Given the description of an element on the screen output the (x, y) to click on. 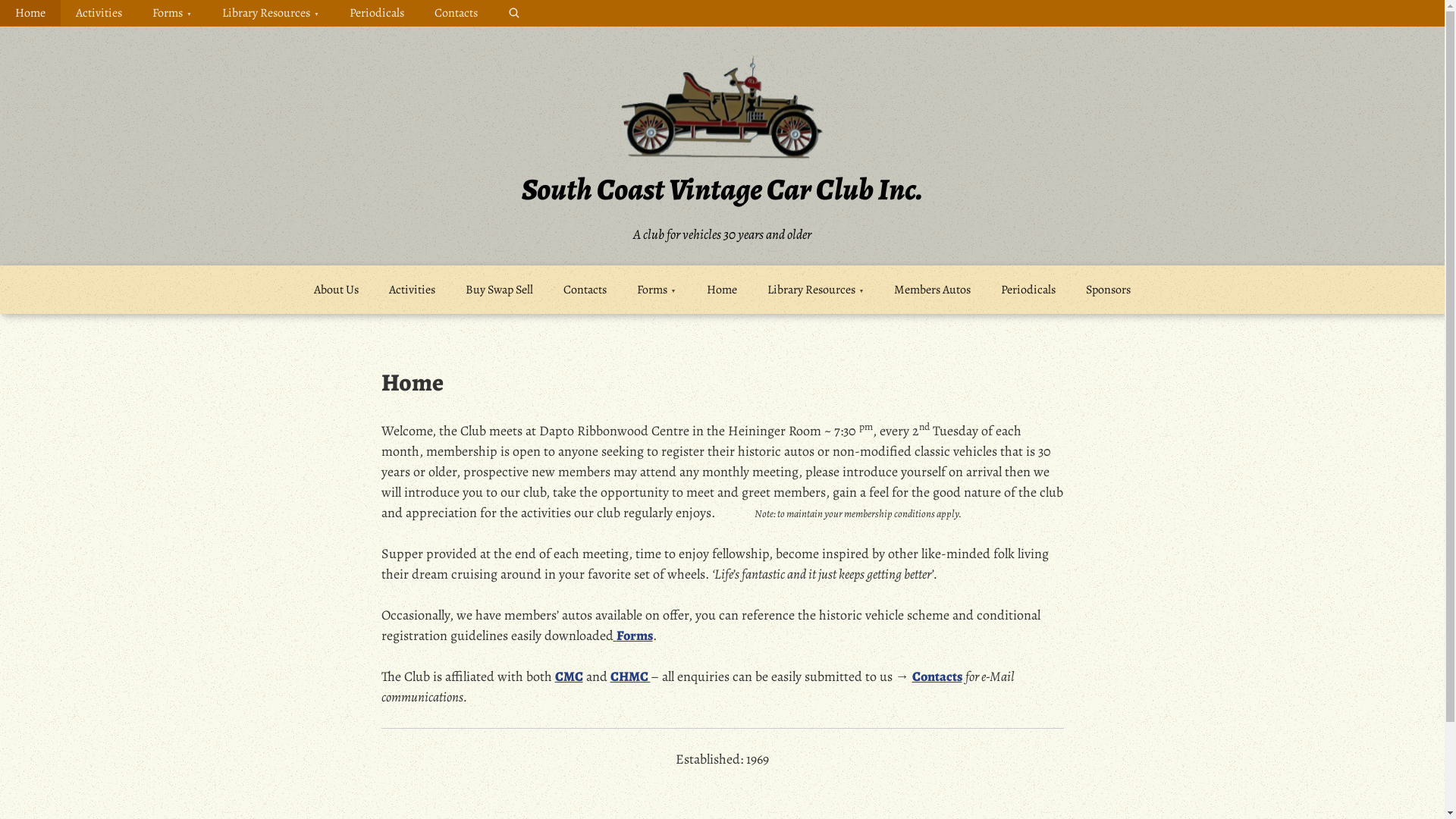
Forms Element type: text (656, 289)
About Us Element type: text (335, 289)
Library Resources Element type: text (270, 12)
CHMC Element type: text (629, 676)
Periodicals Element type: text (376, 12)
Periodicals Element type: text (1027, 289)
Contacts Element type: text (584, 289)
 Forms Element type: text (632, 635)
Activities Element type: text (411, 289)
Library Resources Element type: text (815, 289)
CMC Element type: text (569, 676)
Members Autos Element type: text (931, 289)
Home Element type: text (30, 12)
Home Element type: text (721, 289)
Contacts Element type: text (936, 676)
Activities Element type: text (98, 12)
South Coast Vintage Car Club Inc. Element type: text (721, 189)
Sponsors Element type: text (1107, 289)
Buy Swap Sell Element type: text (499, 289)
Forms Element type: text (172, 12)
Contacts Element type: text (455, 12)
